Given the description of an element on the screen output the (x, y) to click on. 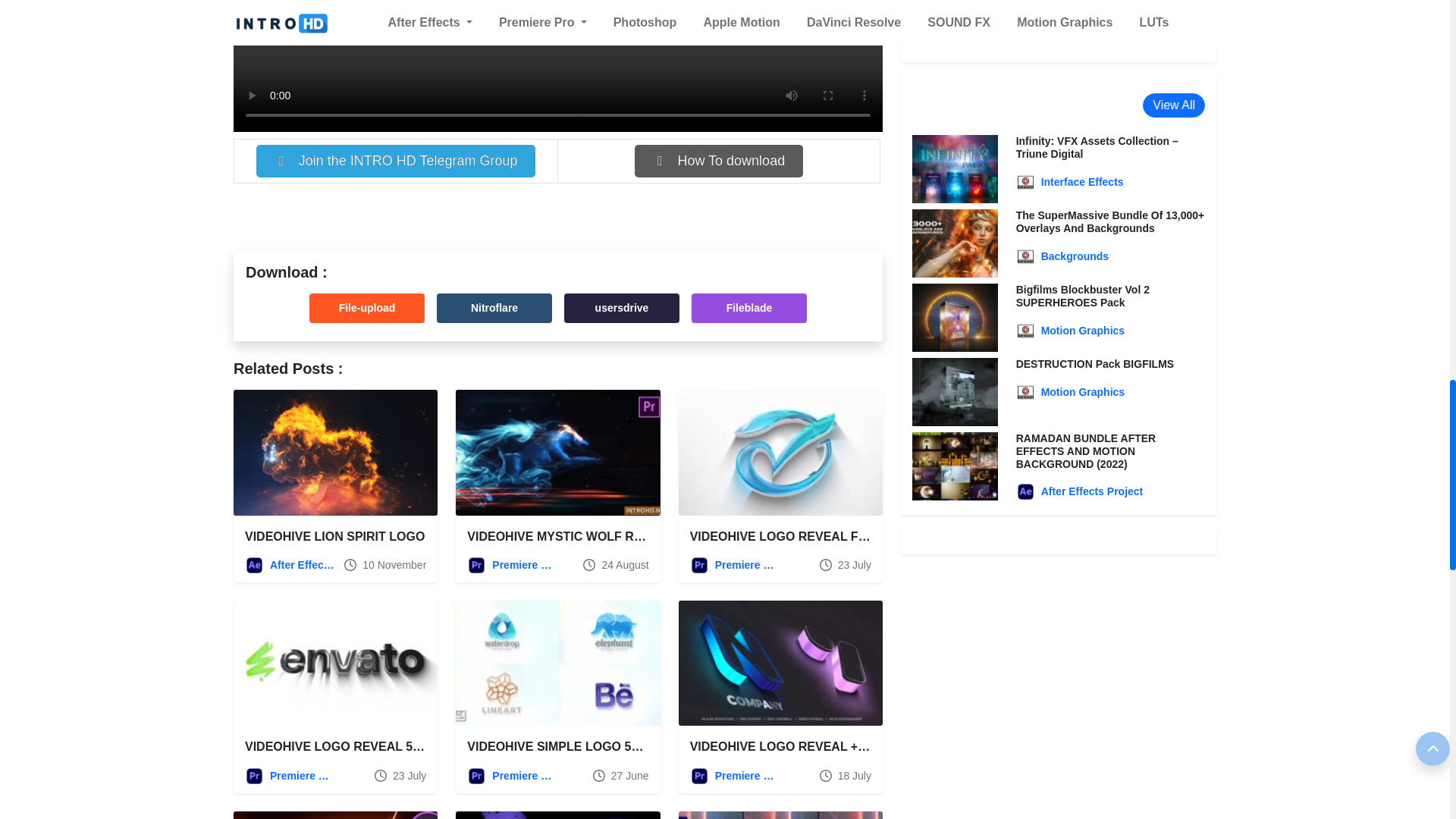
VIDEOHIVE LION SPIRIT LOGO (335, 452)
File-upload (366, 307)
VIDEOHIVE LION SPIRIT LOGO (334, 535)
Join the INTRO HD Telegram Group (395, 160)
How To download (718, 160)
Videohive Mystic Wolf Reveal Premiere Pro 24412341 (647, 535)
Videohive Mystic Wolf Reveal Premiere Pro 24412341 (557, 452)
